Given the description of an element on the screen output the (x, y) to click on. 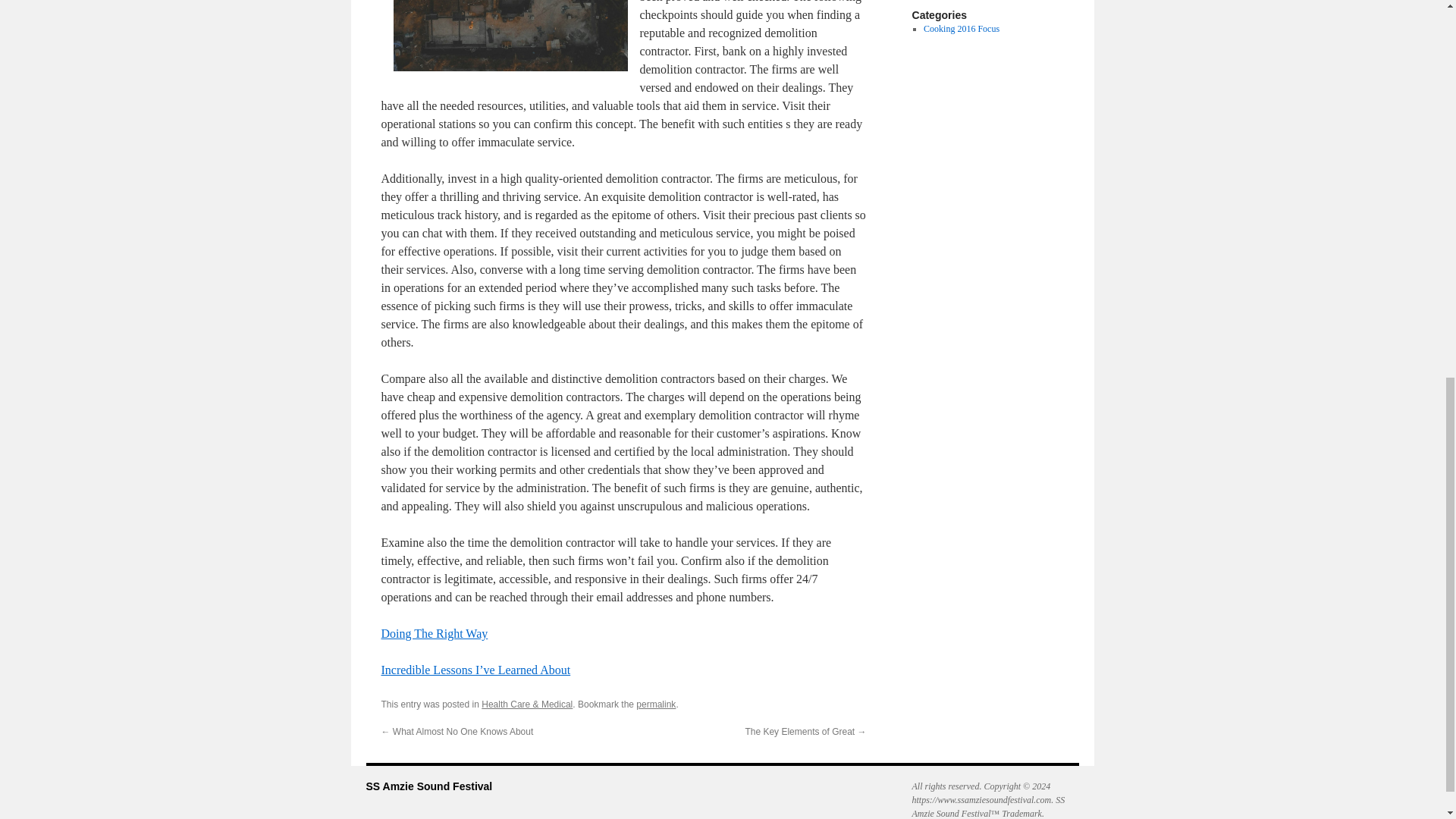
Permalink to What You Should Know About  This Year (655, 704)
Cooking 2016 Focus (960, 28)
SS Amzie Sound Festival (428, 786)
permalink (655, 704)
Doing The Right Way (433, 633)
